Given the description of an element on the screen output the (x, y) to click on. 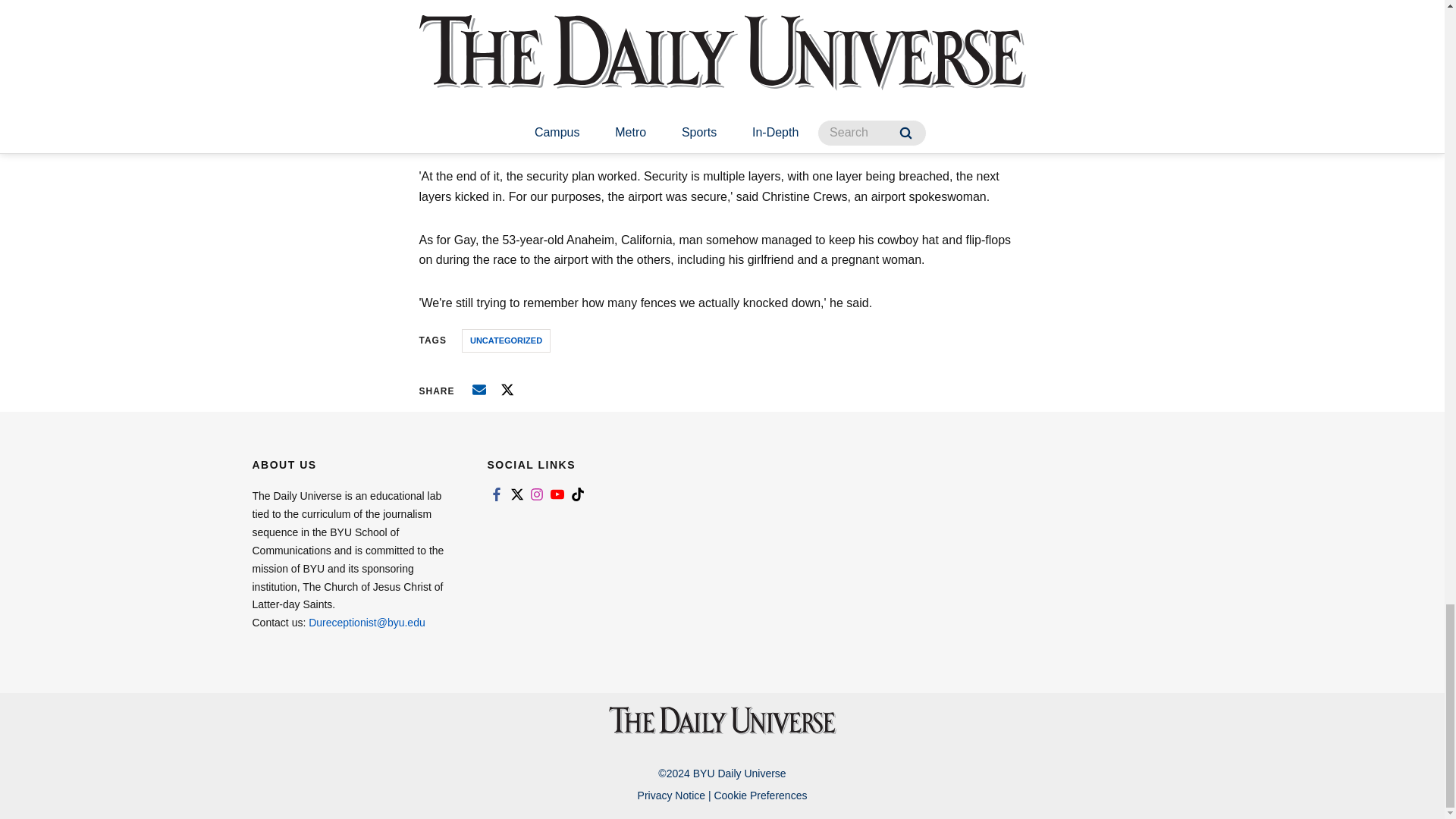
Link to tiktok (577, 494)
Link to instagram (536, 494)
Privacy Notice (670, 795)
UNCATEGORIZED (505, 340)
Link to twitter (515, 494)
Link to facebook (495, 494)
Cookie Preferences (759, 795)
Email (478, 389)
Link to youtube (557, 494)
